Given the description of an element on the screen output the (x, y) to click on. 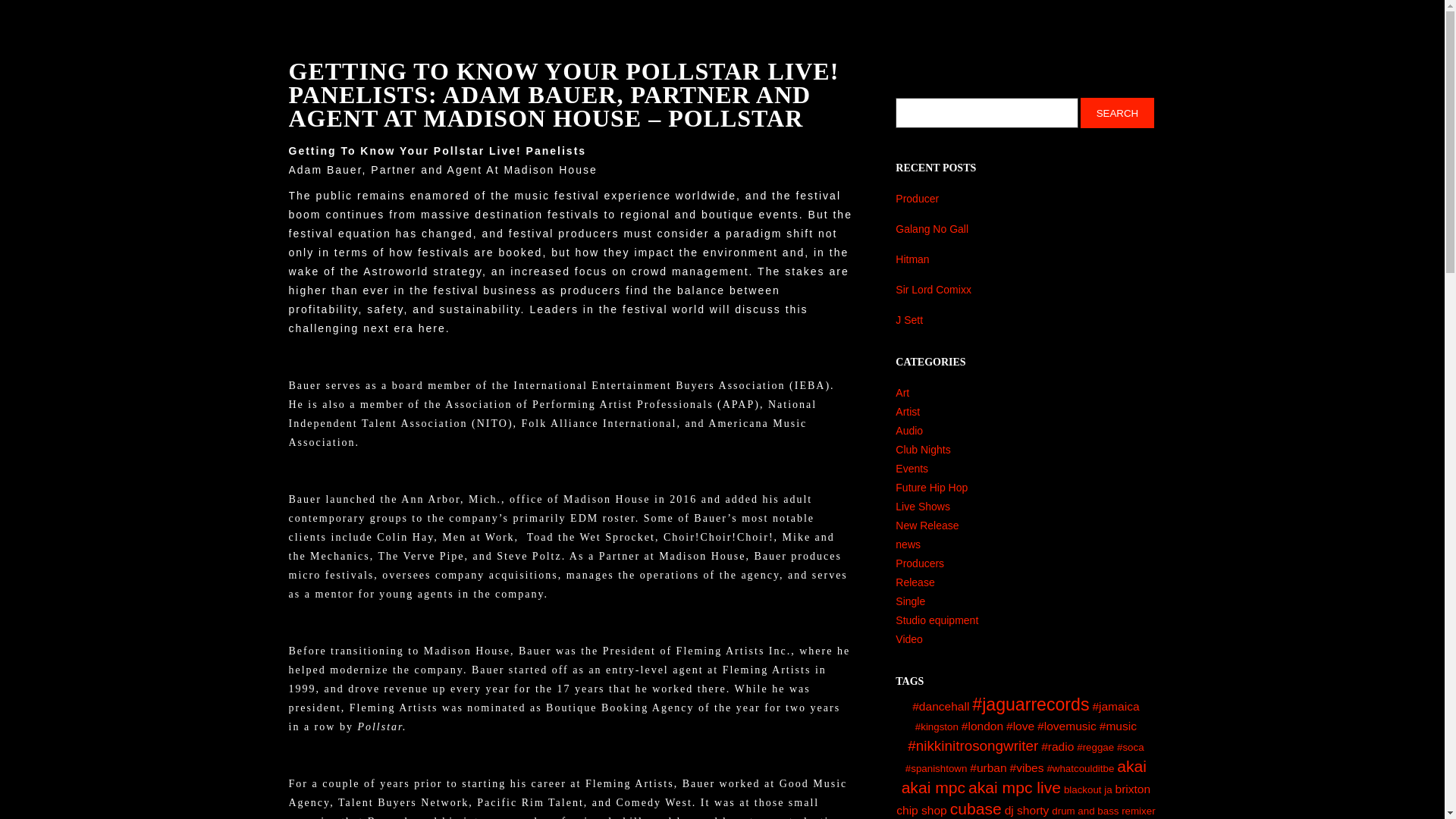
Single (909, 601)
Producers (919, 563)
Future Hip Hop (931, 487)
Galang No Gall (1025, 229)
New Release (926, 525)
Sir Lord Comixx (1025, 289)
news (907, 544)
J Sett (1025, 320)
Hitman (1025, 259)
Search (1116, 112)
Events (911, 468)
Audio (909, 430)
Art (901, 392)
Live Shows (922, 506)
Video (909, 639)
